Given the description of an element on the screen output the (x, y) to click on. 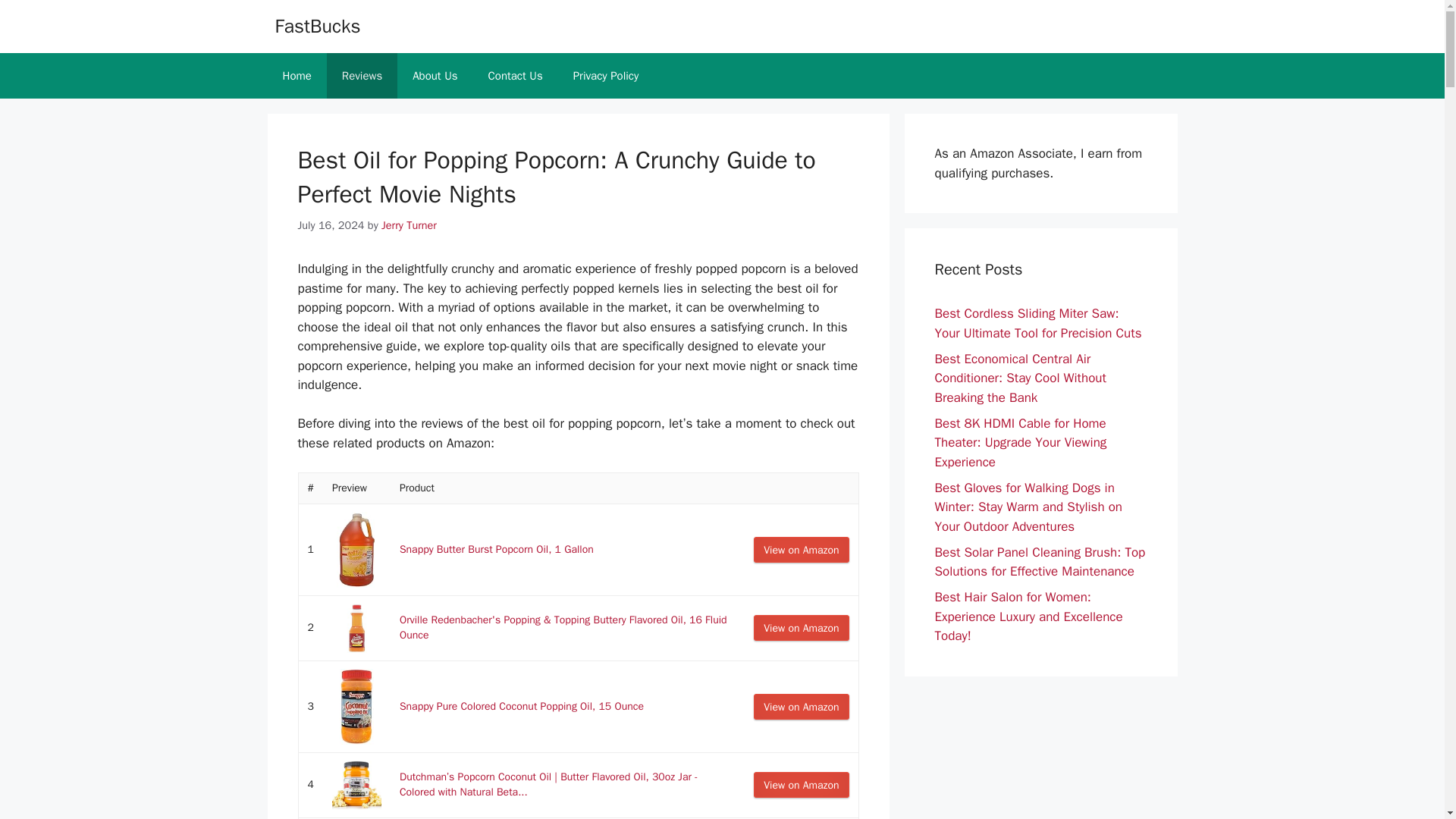
View on Amazon (801, 627)
Privacy Policy (605, 75)
About Us (434, 75)
View all posts by Jerry Turner (408, 224)
Jerry Turner (408, 224)
View on Amazon (801, 784)
Contact Us (515, 75)
View on Amazon (801, 627)
View on Amazon (801, 706)
Snappy Butter Burst Popcorn Oil, 1 Gallon (496, 549)
FastBucks (317, 25)
Snappy Butter Burst Popcorn Oil, 1 Gallon (496, 549)
Reviews (361, 75)
Snappy Pure Colored Coconut Popping Oil, 15 Ounce (520, 706)
Snappy Pure Colored Coconut Popping Oil, 15 Ounce (520, 706)
